Given the description of an element on the screen output the (x, y) to click on. 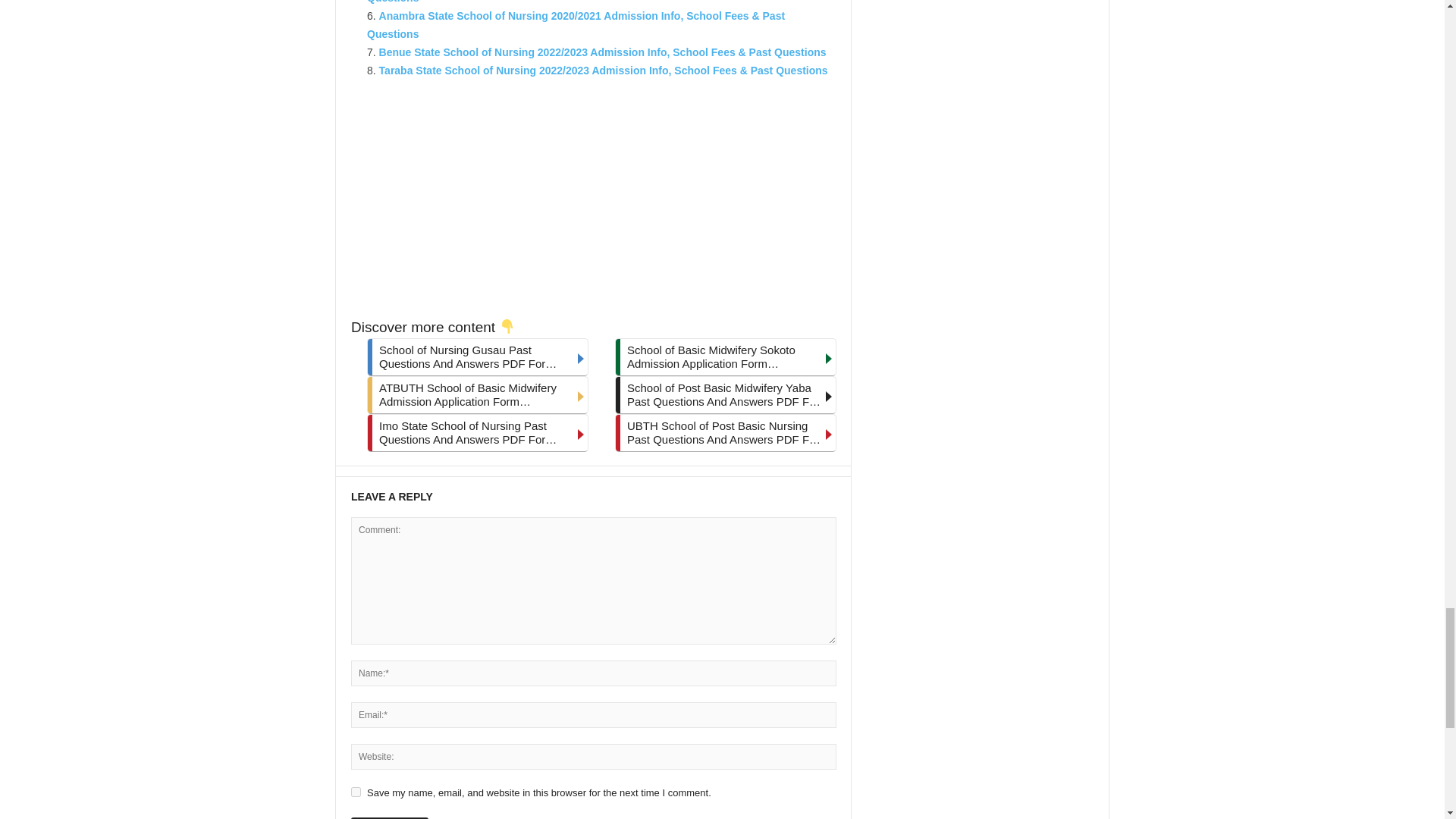
Post Comment (389, 818)
Post Comment (389, 818)
yes (355, 791)
